Given the description of an element on the screen output the (x, y) to click on. 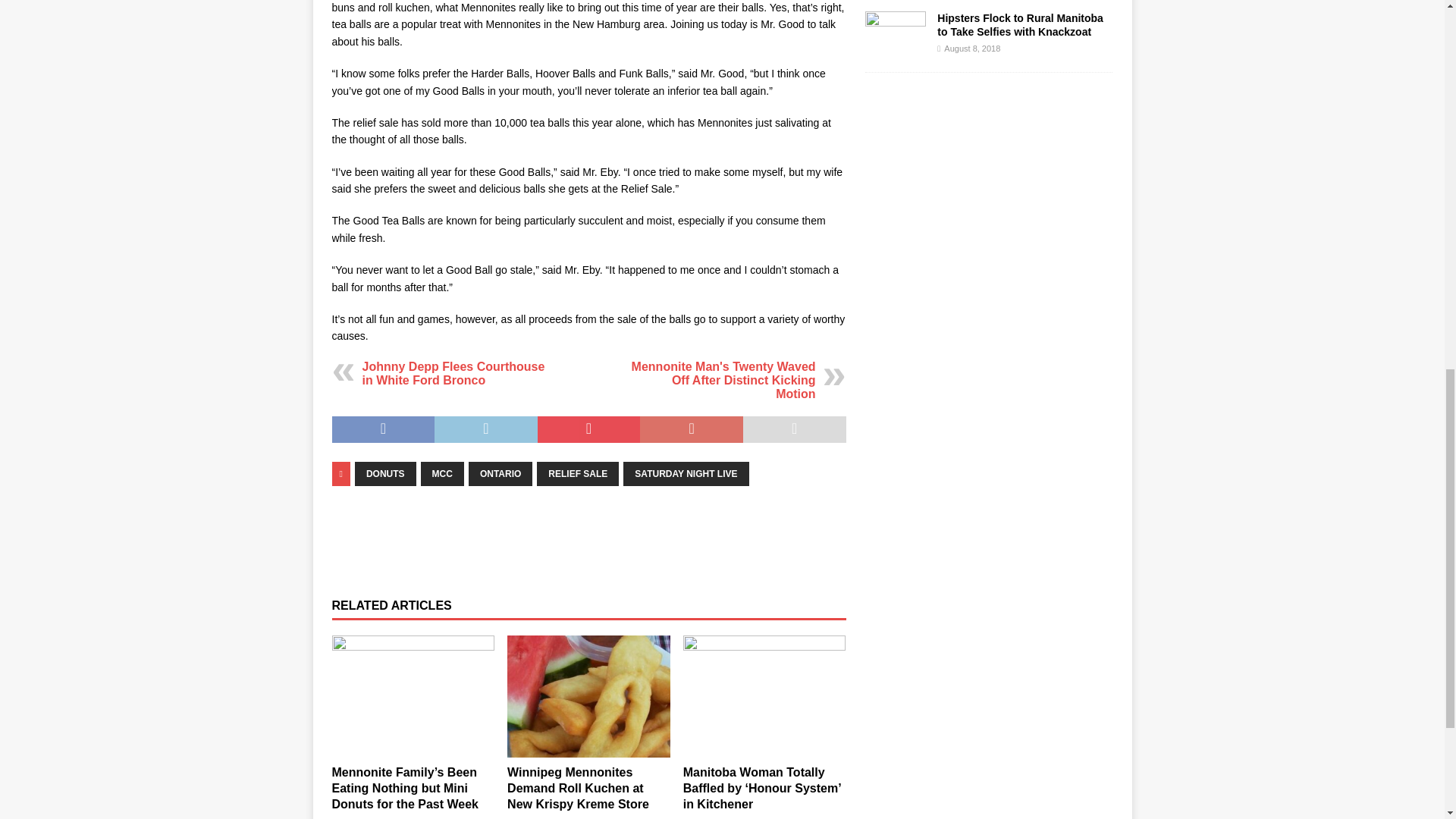
DONUTS (385, 473)
RELIEF SALE (577, 473)
ONTARIO (500, 473)
Johnny Depp Flees Courthouse in White Ford Bronco (453, 373)
SATURDAY NIGHT LIVE (685, 473)
MCC (442, 473)
